Given the description of an element on the screen output the (x, y) to click on. 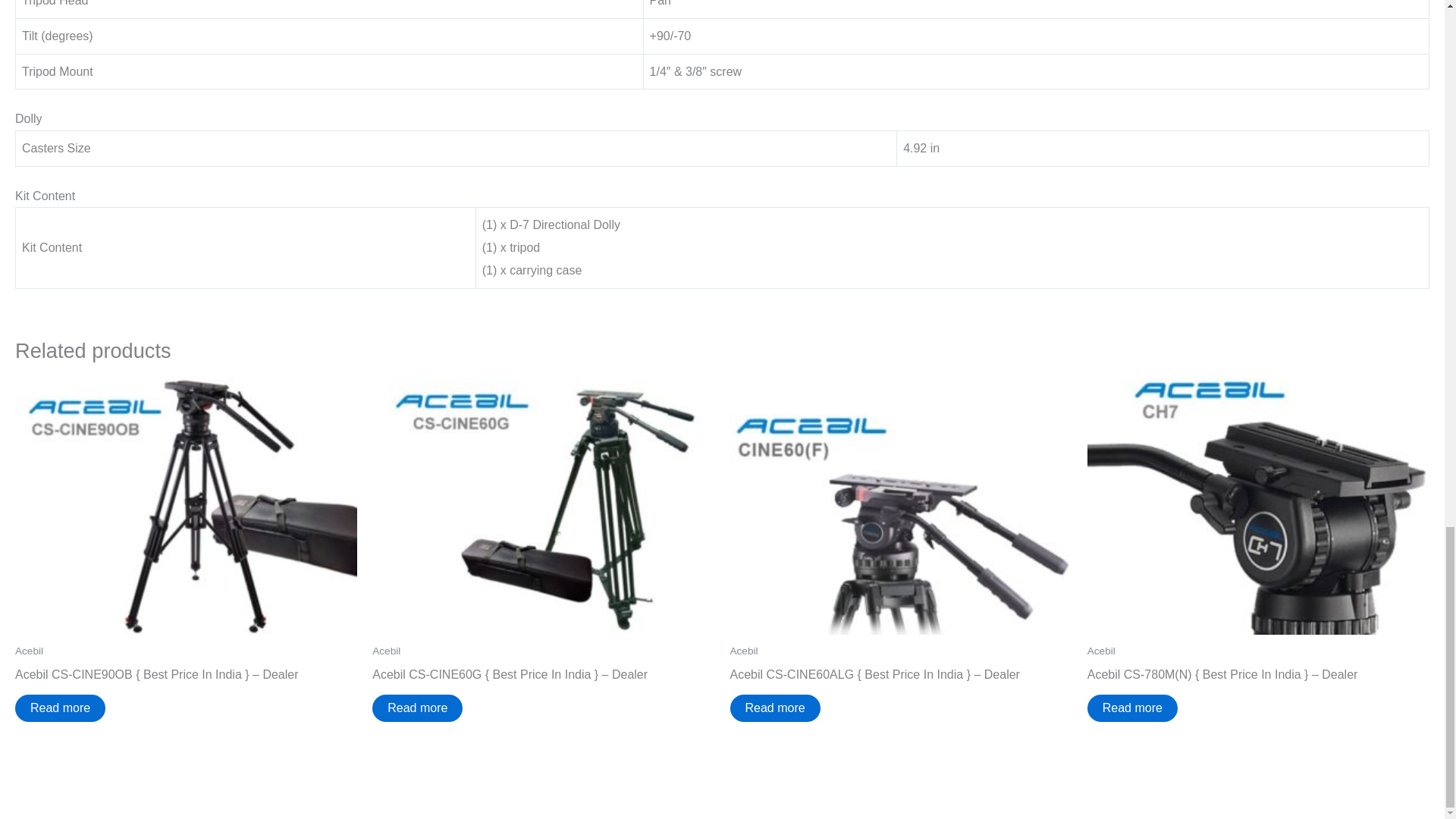
Read more (417, 707)
Read more (774, 707)
Read more (59, 707)
Read more (1132, 707)
